Given the description of an element on the screen output the (x, y) to click on. 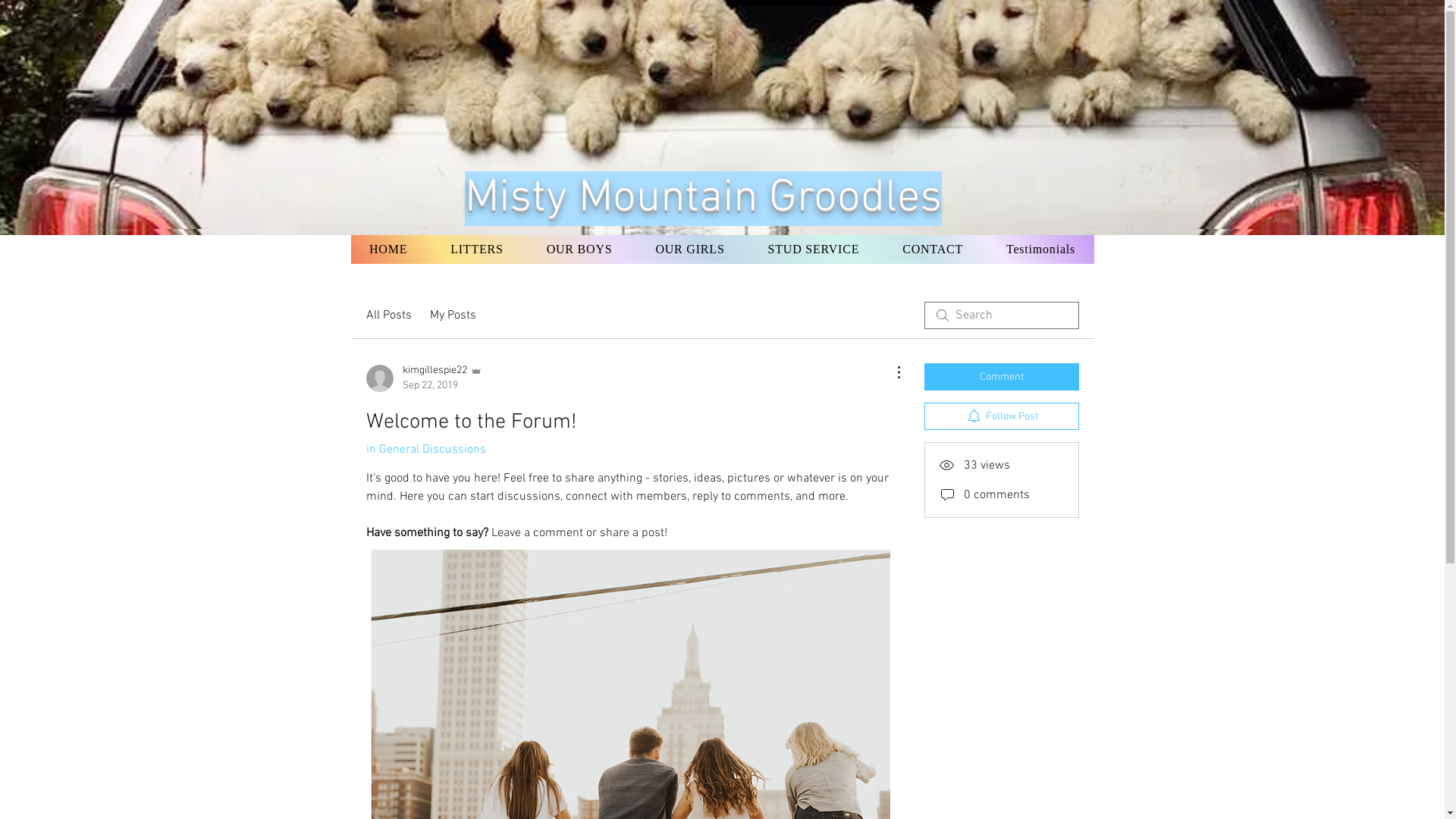
Follow Post Element type: text (1000, 415)
in General Discussions Element type: text (425, 449)
Comment Element type: text (1000, 376)
OUR GIRLS Element type: text (690, 249)
Misty Mountain Groodles Element type: text (702, 196)
CONTACT Element type: text (933, 249)
HOME Element type: text (387, 249)
STUD SERVICE Element type: text (813, 249)
Log In Element type: text (1044, 136)
My Posts Element type: text (452, 315)
Testimonials Element type: text (1040, 249)
kimgillespie22
Sep 22, 2019 Element type: text (423, 378)
All Posts Element type: text (388, 315)
Misty Mountain Groodles Element type: text (702, 198)
